Given the description of an element on the screen output the (x, y) to click on. 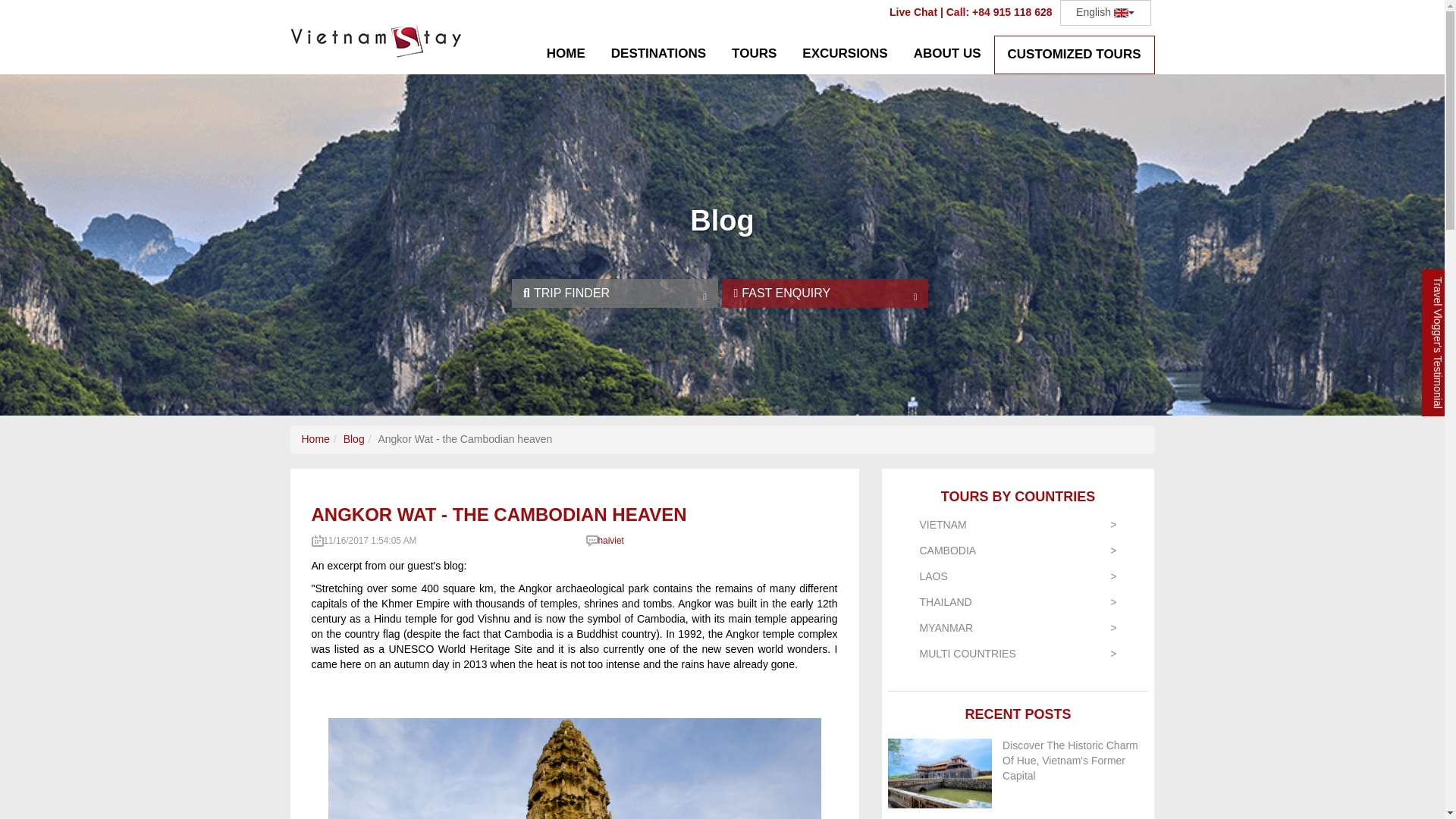
English (1105, 12)
TOURS (754, 54)
HOME (566, 54)
DESTINATIONS (658, 54)
Live Chat (913, 11)
